Given the description of an element on the screen output the (x, y) to click on. 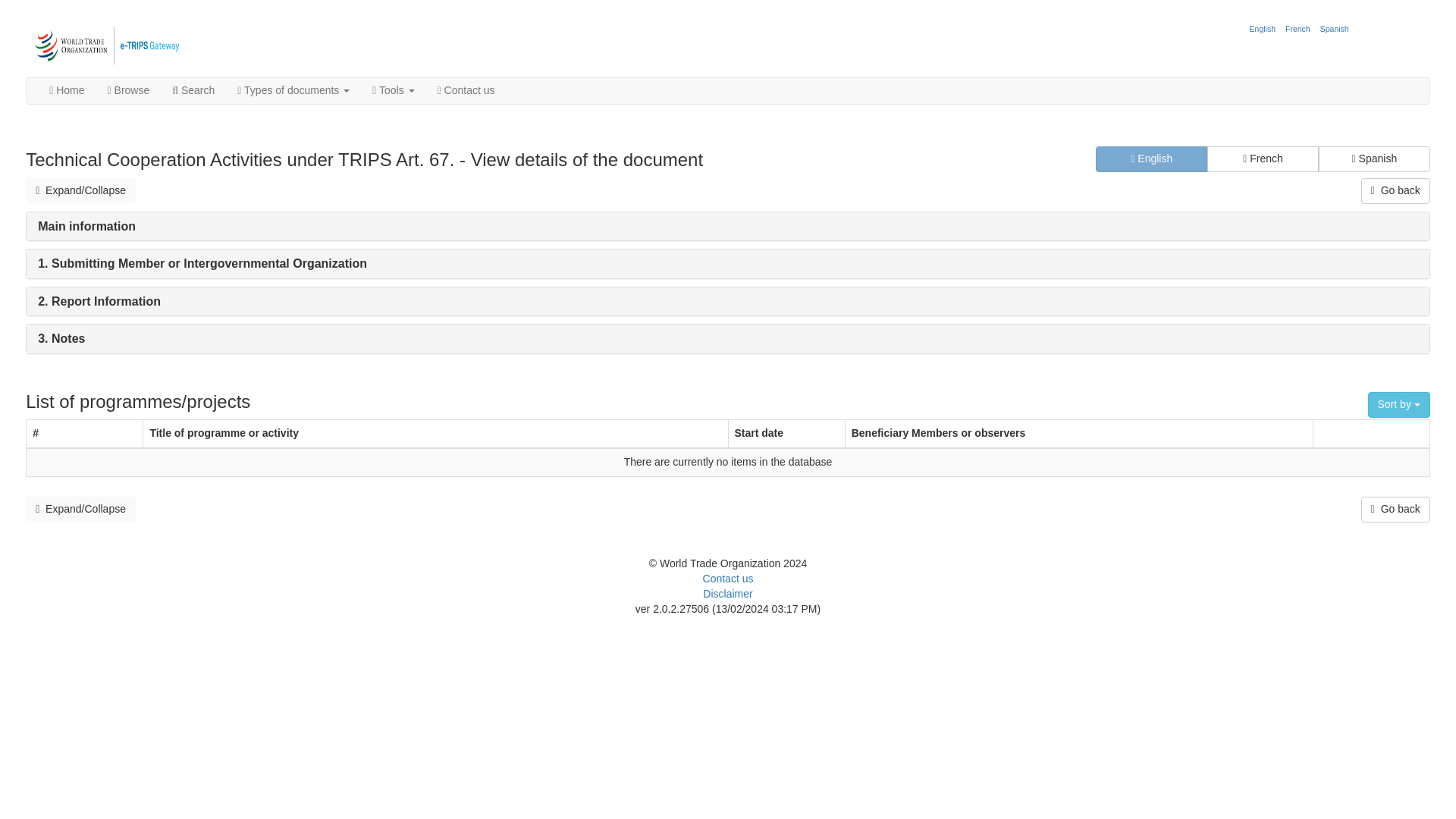
Home (66, 90)
French (1297, 29)
Browse (128, 90)
Search (192, 90)
Types of documents (293, 90)
English (1262, 29)
Spanish (1334, 29)
Tools (393, 90)
